Given the description of an element on the screen output the (x, y) to click on. 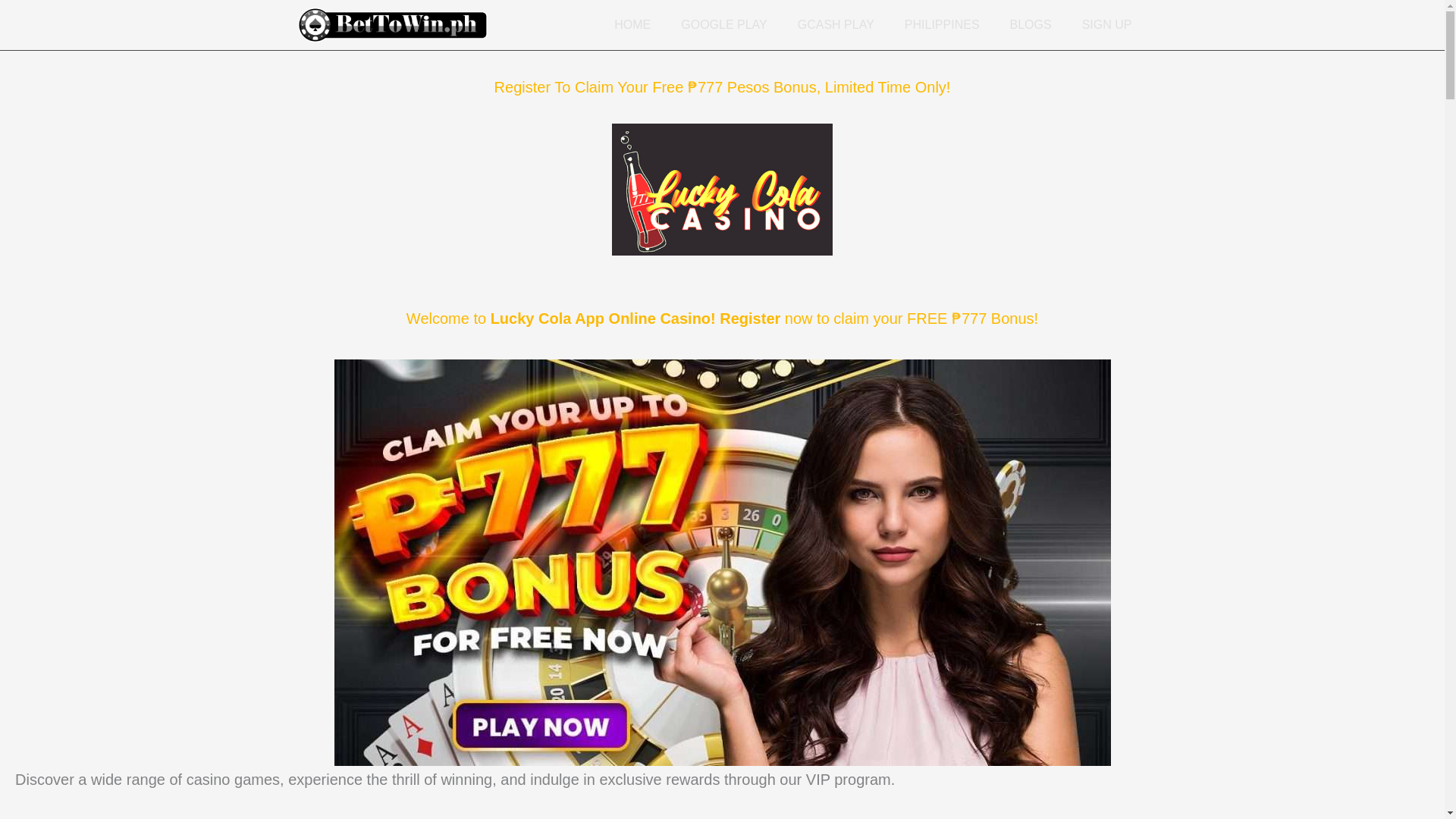
BLOGS (1030, 24)
GOOGLE PLAY (724, 24)
HOME (631, 24)
GCASH PLAY (836, 24)
PHILIPPINES (941, 24)
